Given the description of an element on the screen output the (x, y) to click on. 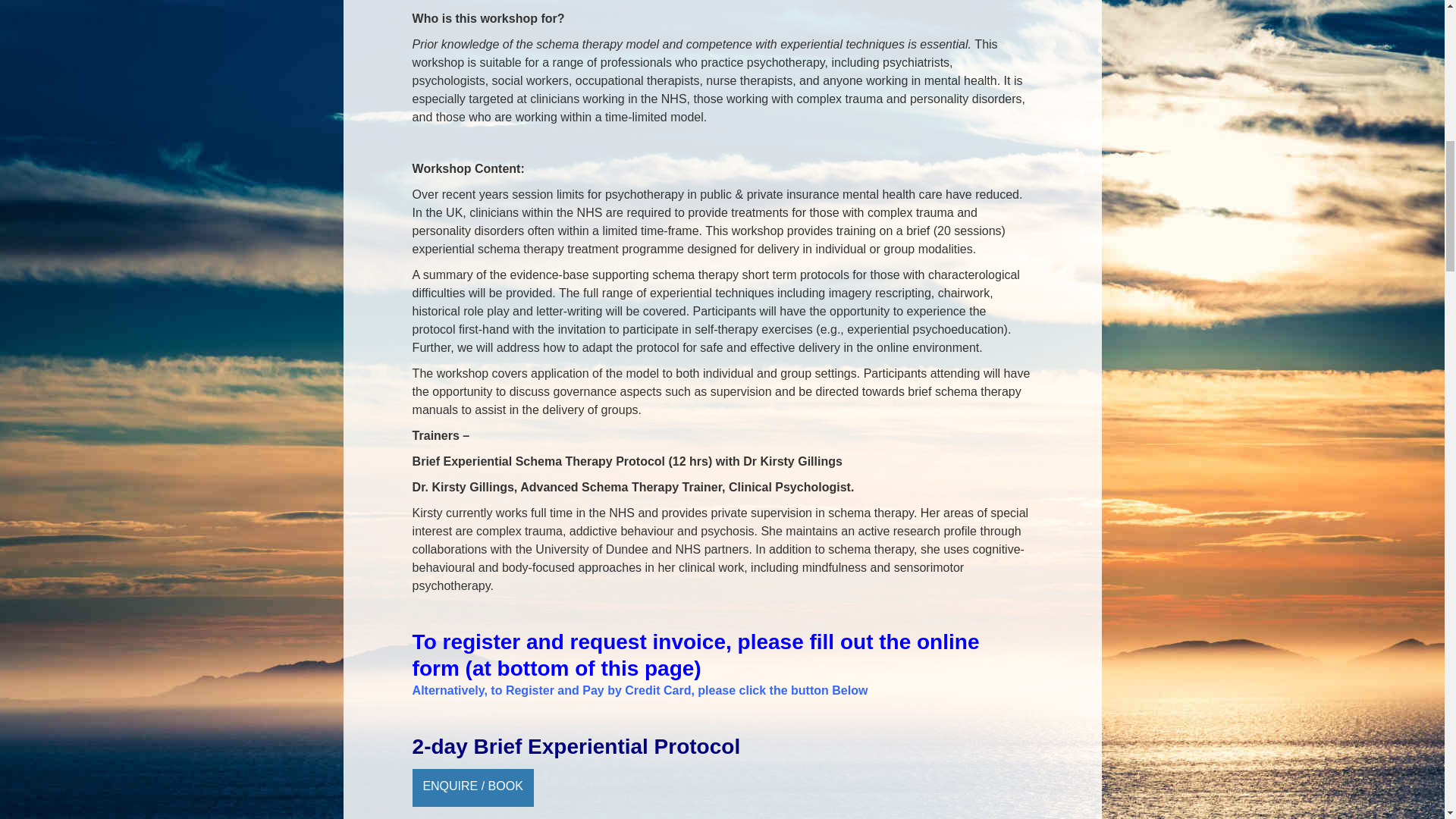
Click to open booking page (473, 787)
